Given the description of an element on the screen output the (x, y) to click on. 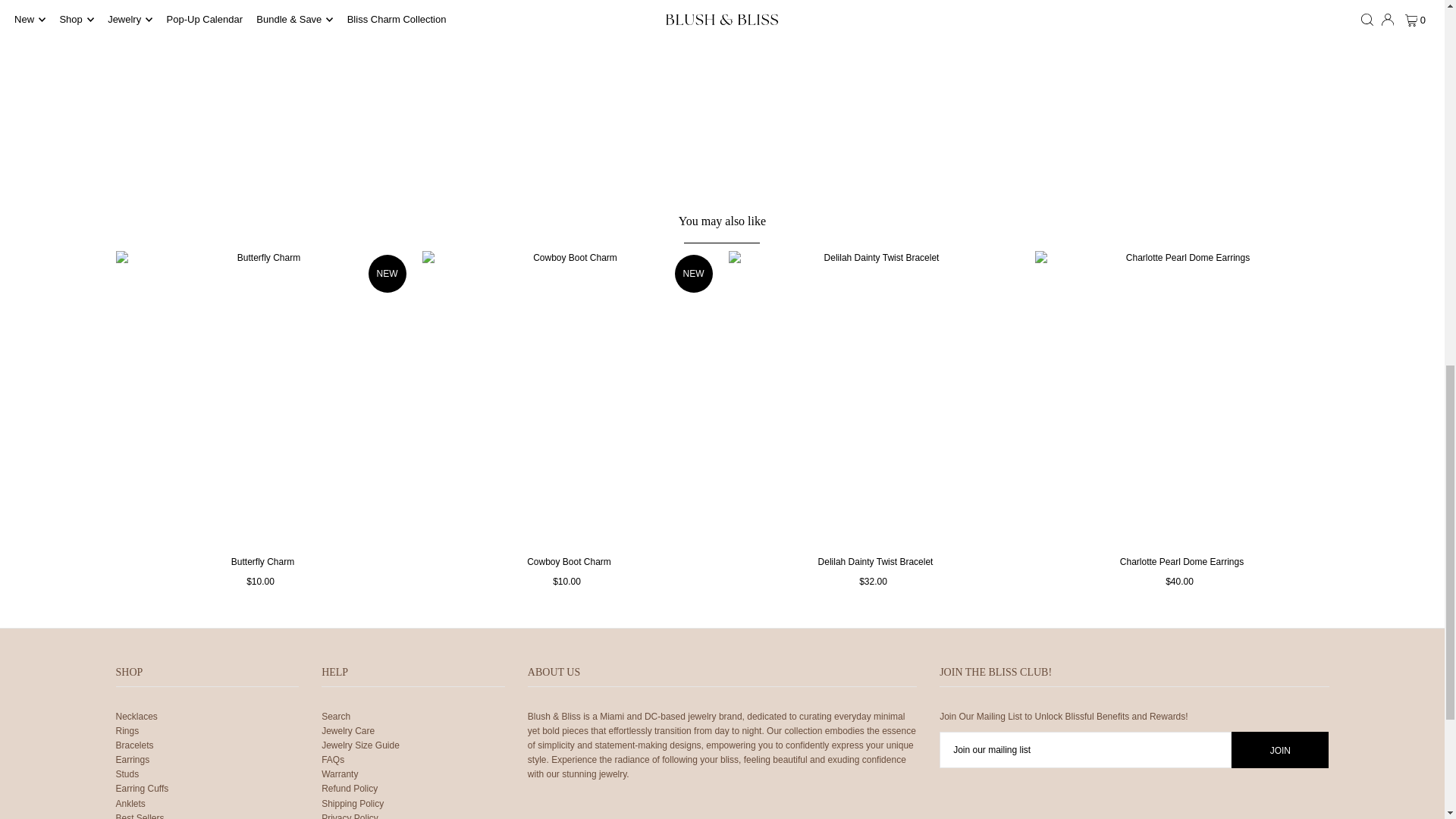
Join (1279, 750)
